Given the description of an element on the screen output the (x, y) to click on. 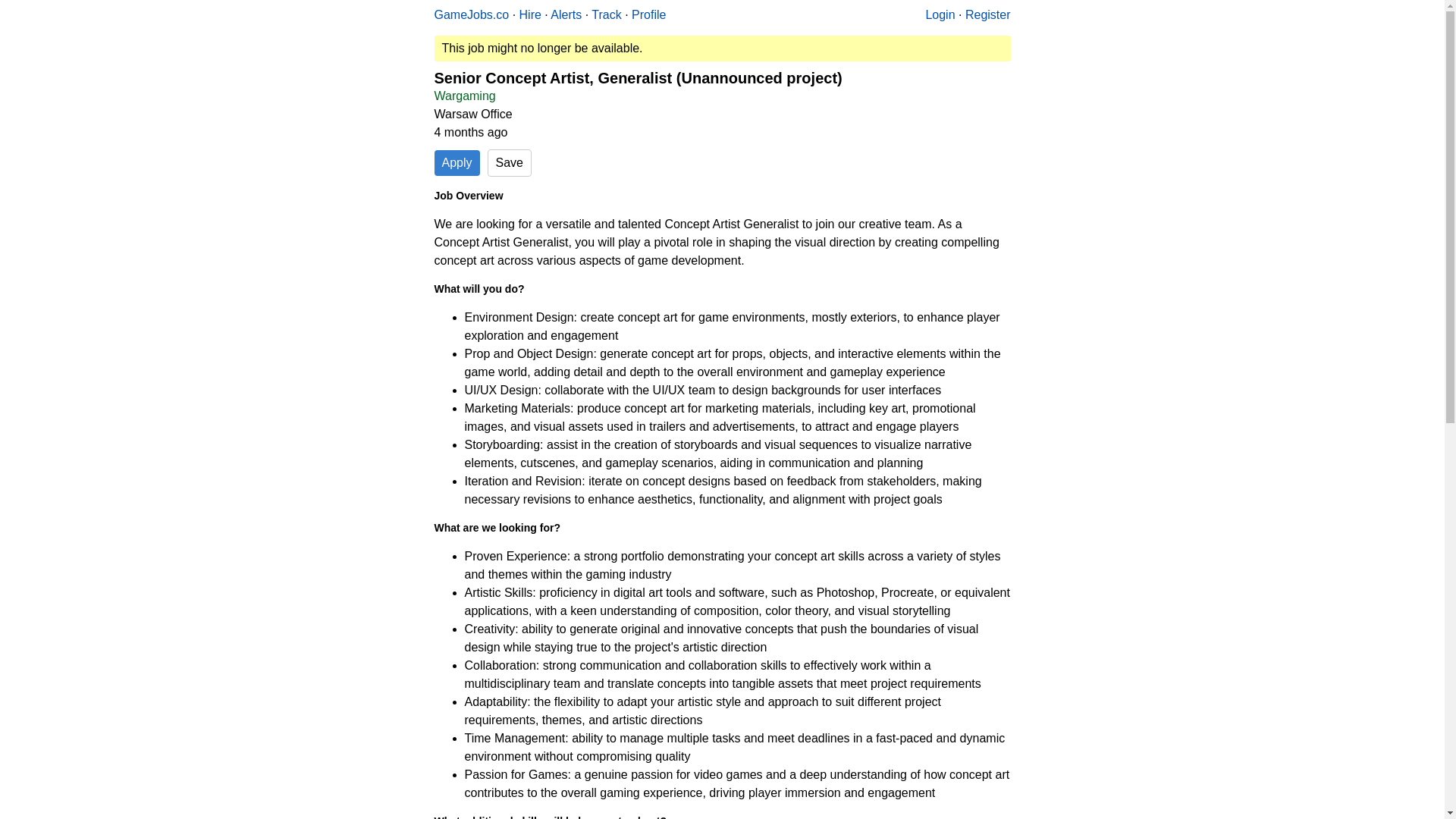
Hire (530, 14)
GameJobs.co (470, 14)
Wargaming (464, 95)
Save (509, 162)
Warsaw Office (472, 113)
Alerts (565, 14)
Apply (456, 162)
